Given the description of an element on the screen output the (x, y) to click on. 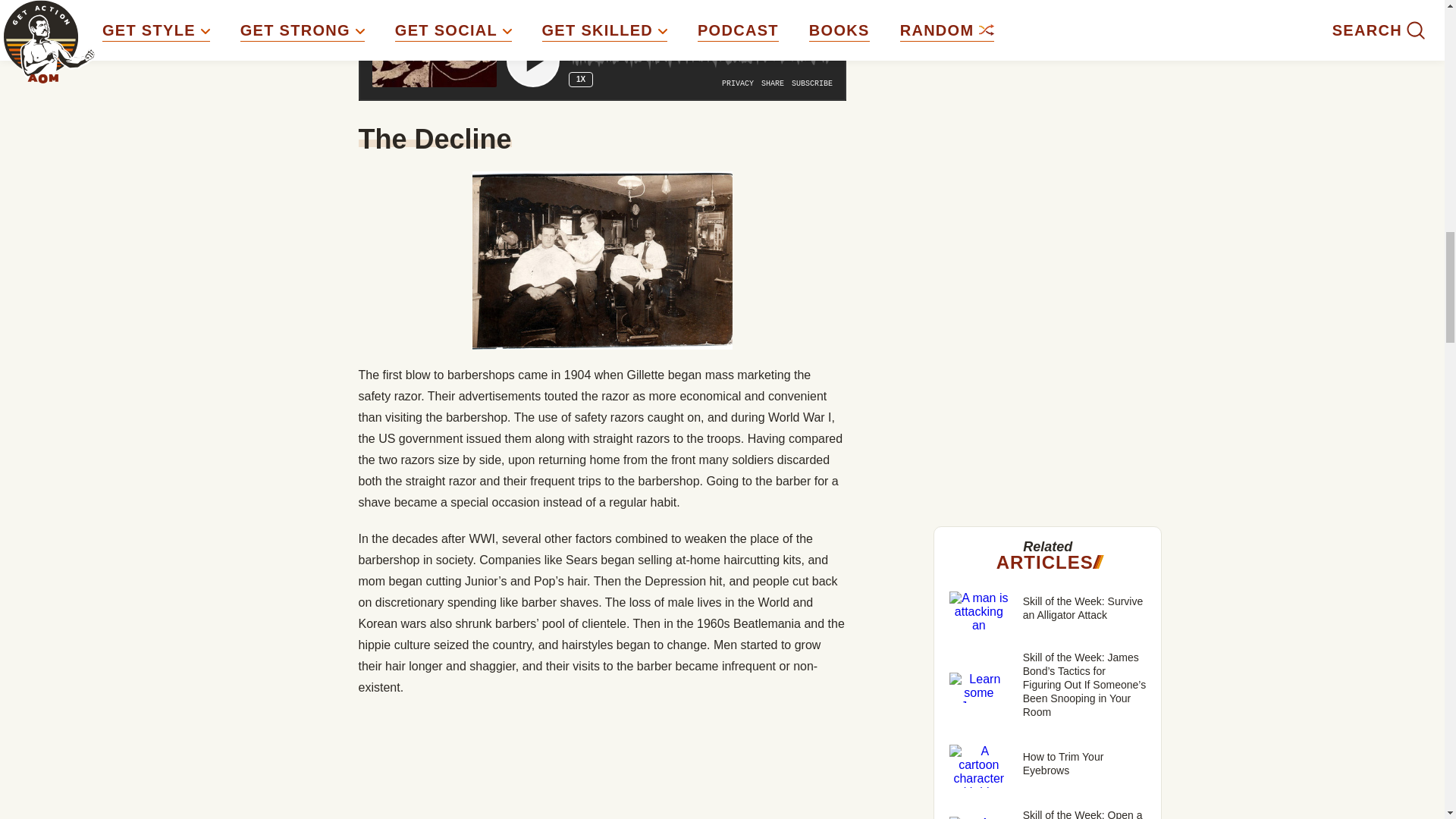
3rd party ad content (1047, 135)
barber22 (601, 260)
